Given the description of an element on the screen output the (x, y) to click on. 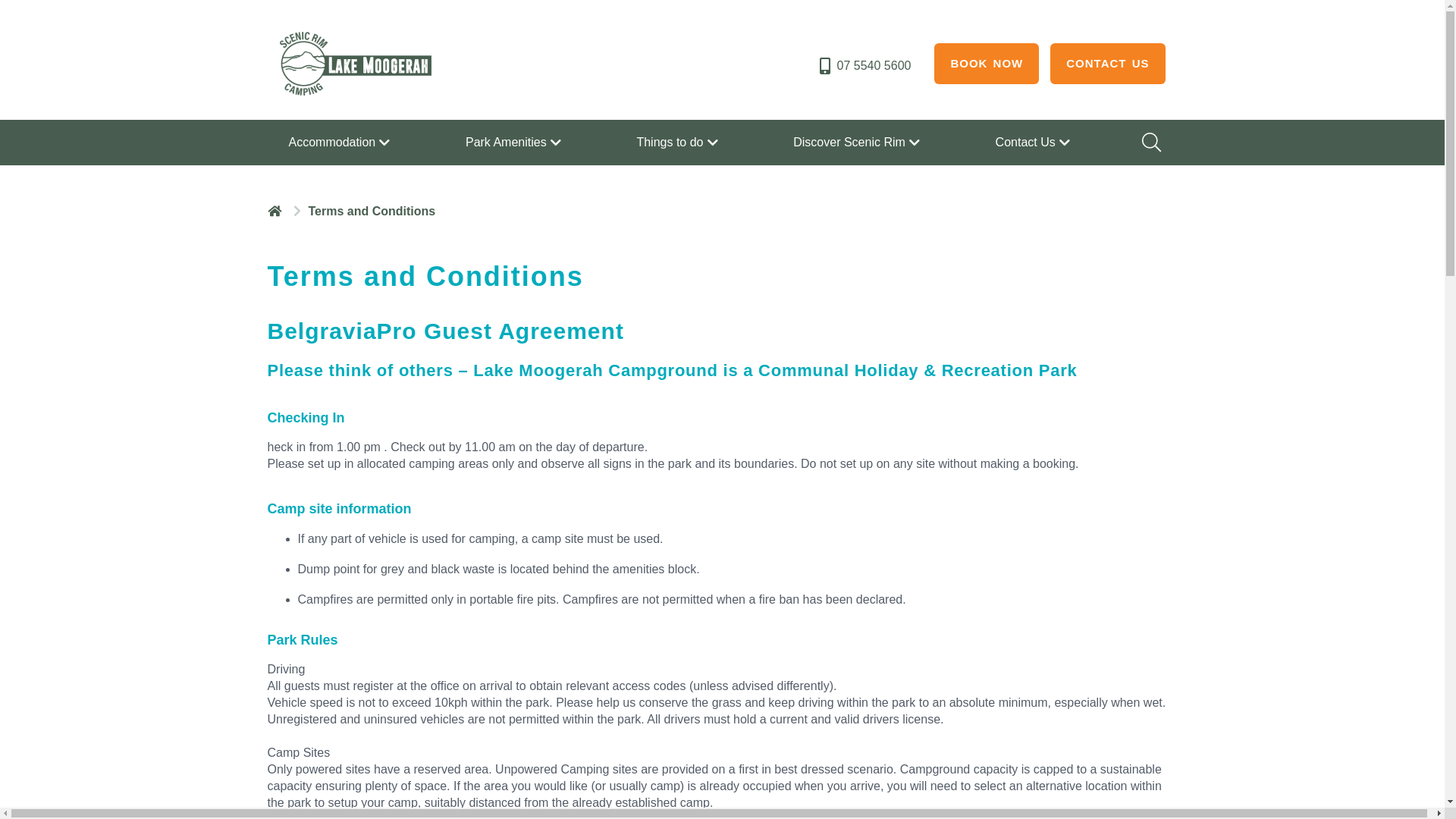
Accommodation Element type: text (340, 142)
Search Element type: text (1150, 142)
  Element type: text (275, 210)
Discover Scenic Rim Element type: text (858, 142)
Park Amenities Element type: text (515, 142)
BOOK NOW Element type: text (986, 63)
07 5540 5600 Element type: text (863, 65)
Contact Us Element type: text (1034, 142)
CONTACT US Element type: text (1107, 63)
Things to do Element type: text (678, 142)
